Given the description of an element on the screen output the (x, y) to click on. 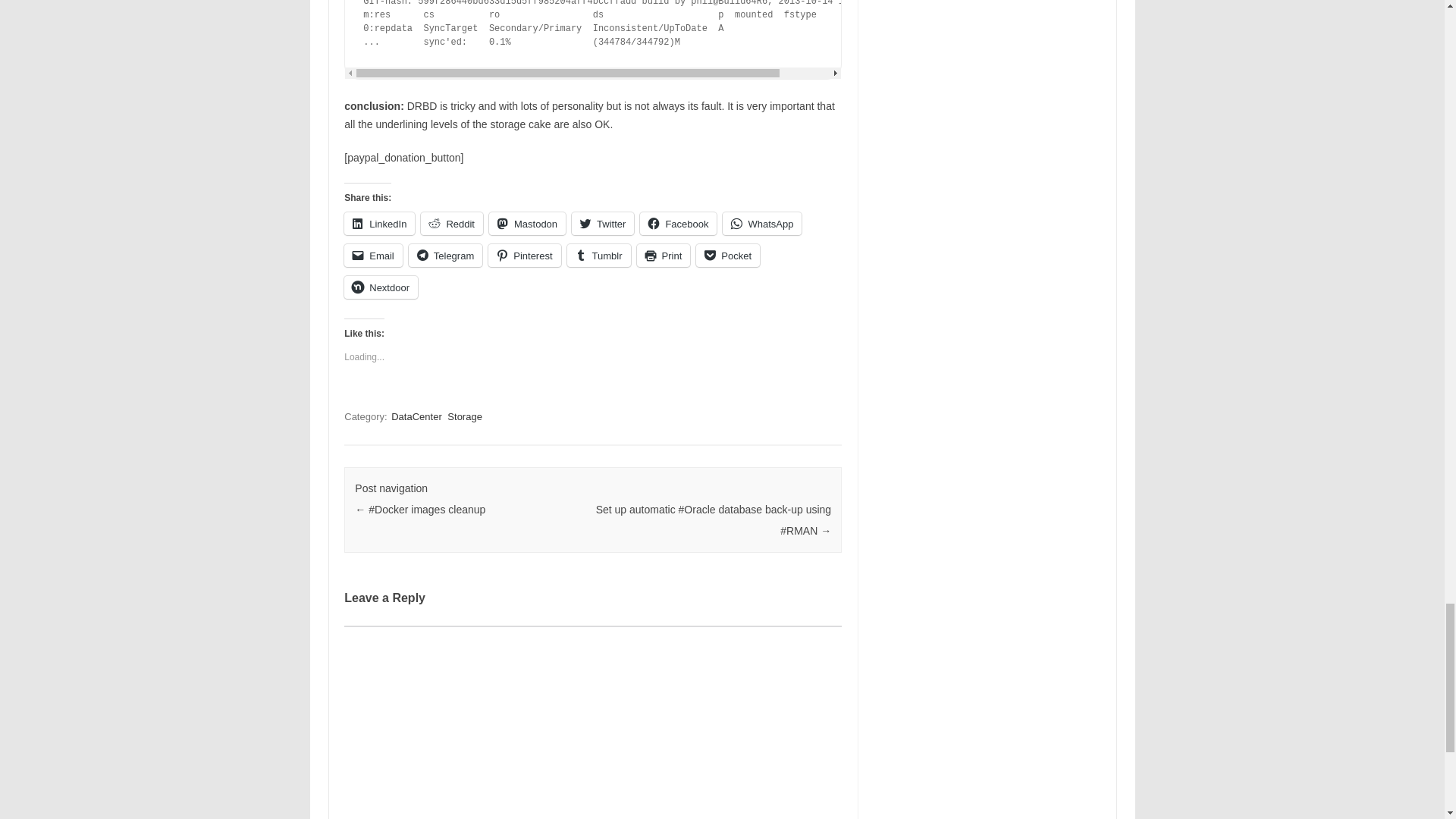
Pocket (727, 255)
Print (663, 255)
Telegram (445, 255)
Nextdoor (380, 287)
WhatsApp (762, 223)
Click to share on Twitter (602, 223)
Twitter (602, 223)
Tumblr (598, 255)
Pinterest (523, 255)
DataCenter (416, 416)
LinkedIn (378, 223)
Reddit (451, 223)
Click to share on Tumblr (598, 255)
Click to share on Pinterest (523, 255)
Click to share on LinkedIn (378, 223)
